Given the description of an element on the screen output the (x, y) to click on. 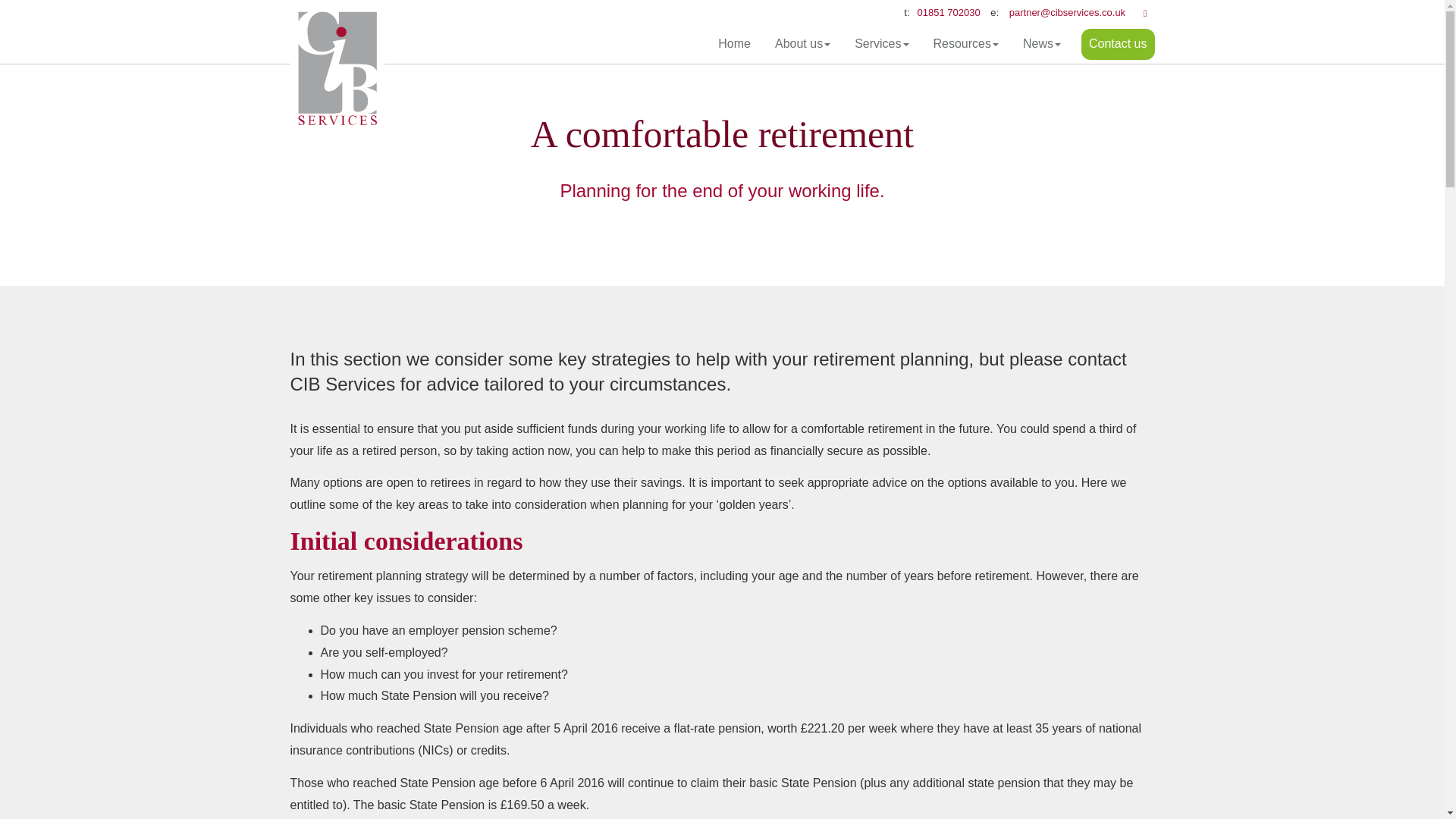
Services (881, 43)
About us (802, 43)
Contact us (1117, 43)
About us (1067, 12)
01851 702030 (948, 12)
About us (802, 43)
Resources (965, 43)
Resources (965, 43)
Services (881, 43)
Contact us (1117, 43)
Home (734, 43)
News (1041, 43)
Home (734, 43)
About us (948, 12)
